Given the description of an element on the screen output the (x, y) to click on. 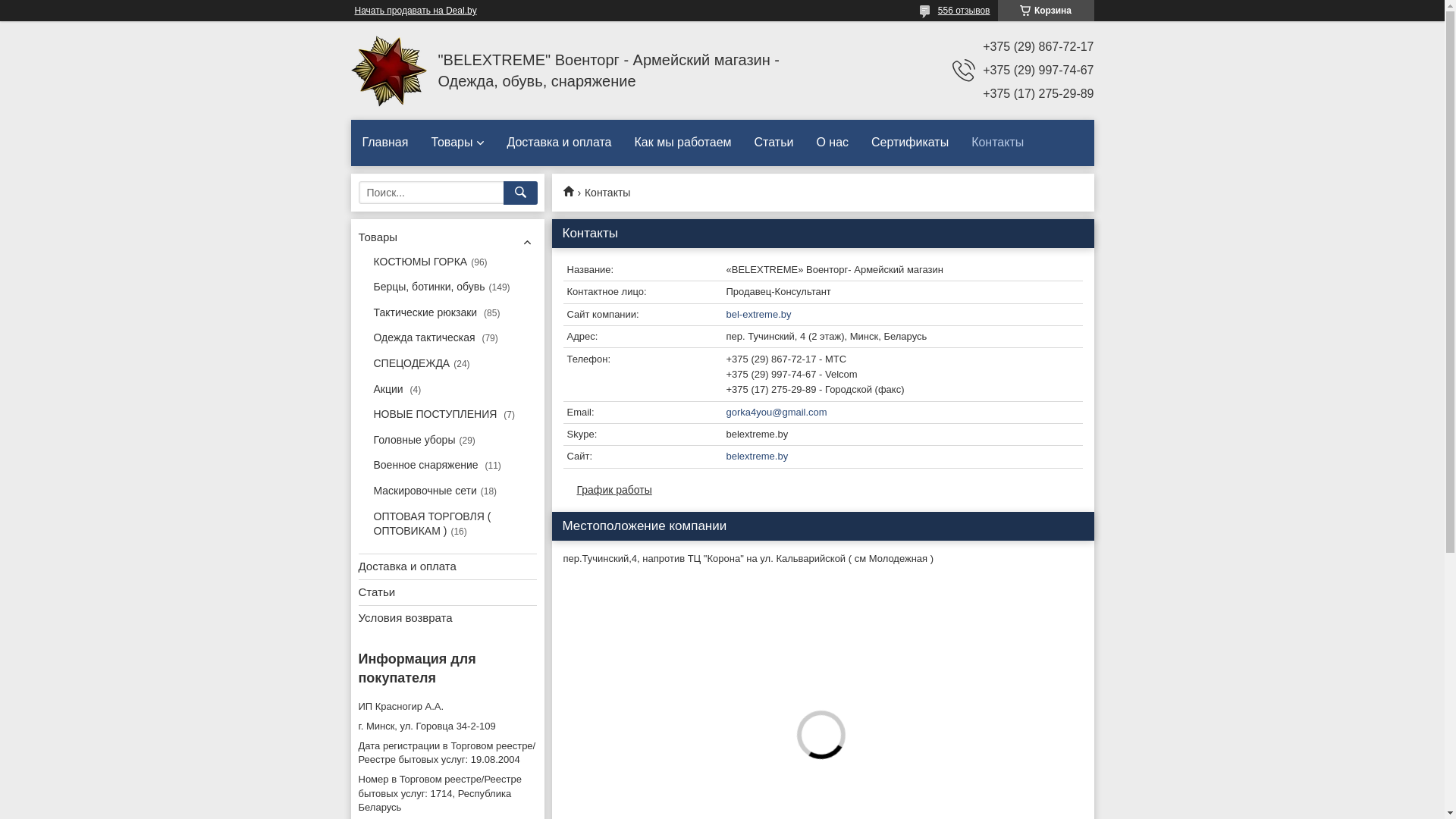
belextreme.by Element type: text (822, 456)
gorka4you@gmail.com Element type: text (822, 412)
bel-extreme.by Element type: text (822, 315)
